Given the description of an element on the screen output the (x, y) to click on. 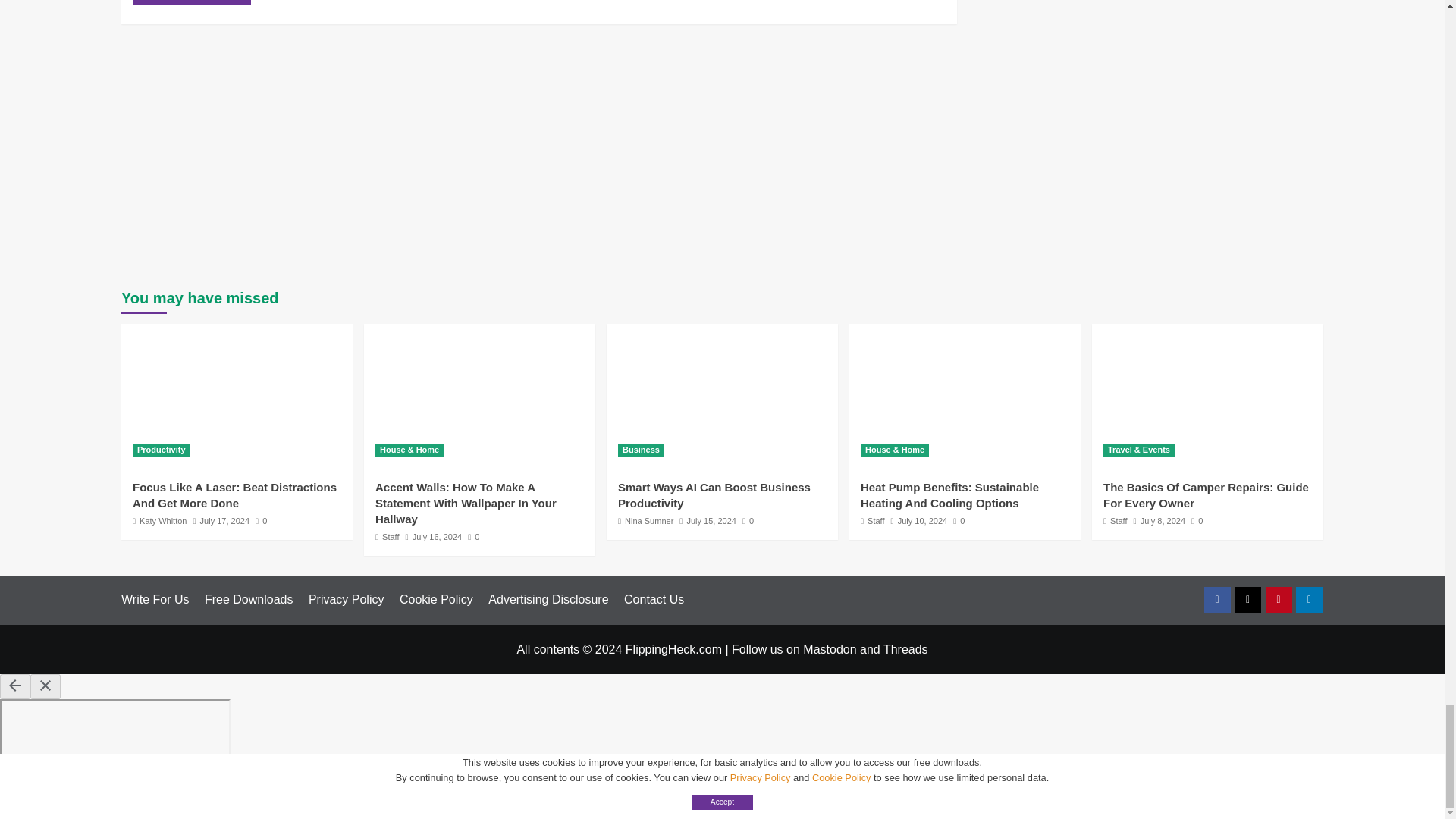
Post Comment (191, 2)
